Given the description of an element on the screen output the (x, y) to click on. 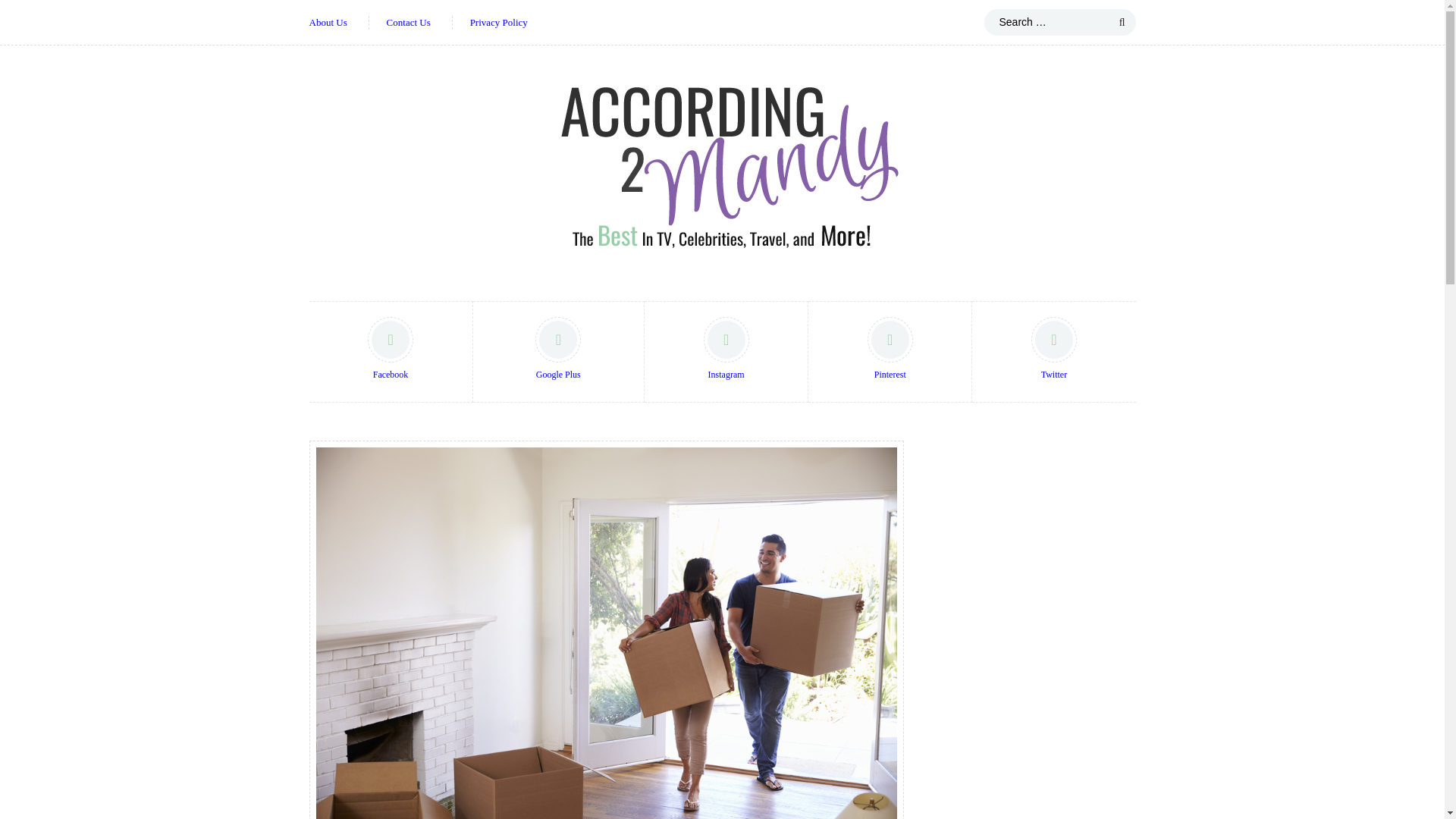
Instagram (725, 352)
Twitter (1053, 352)
Contact Us (408, 22)
Facebook (390, 352)
Instagram (725, 352)
Twitter (1053, 352)
Pinterest (890, 352)
Privacy Policy (498, 22)
Google Plus (558, 352)
Google Plus (558, 352)
